Given the description of an element on the screen output the (x, y) to click on. 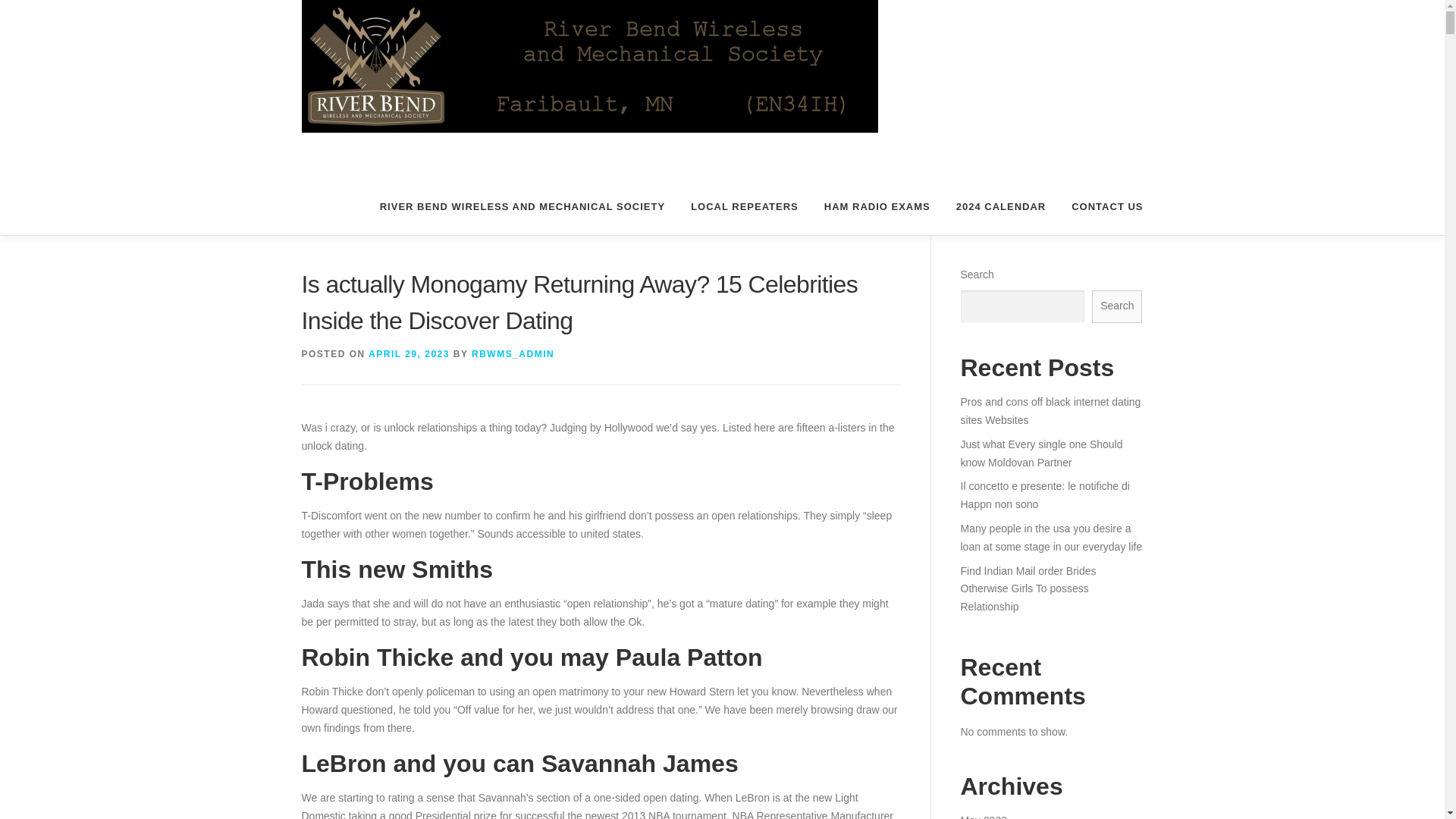
CONTACT US (1100, 206)
Il concetto e presente: le notifiche di Happn non sono (1044, 494)
RIVER BEND WIRELESS AND MECHANICAL SOCIETY (522, 206)
Just what Every single one Should know Moldovan Partner (1040, 453)
Search (1116, 306)
Pros and cons off black internet dating sites Websites (1049, 410)
May 2023 (982, 816)
HAM RADIO EXAMS (876, 206)
2024 CALENDAR (1000, 206)
